Given the description of an element on the screen output the (x, y) to click on. 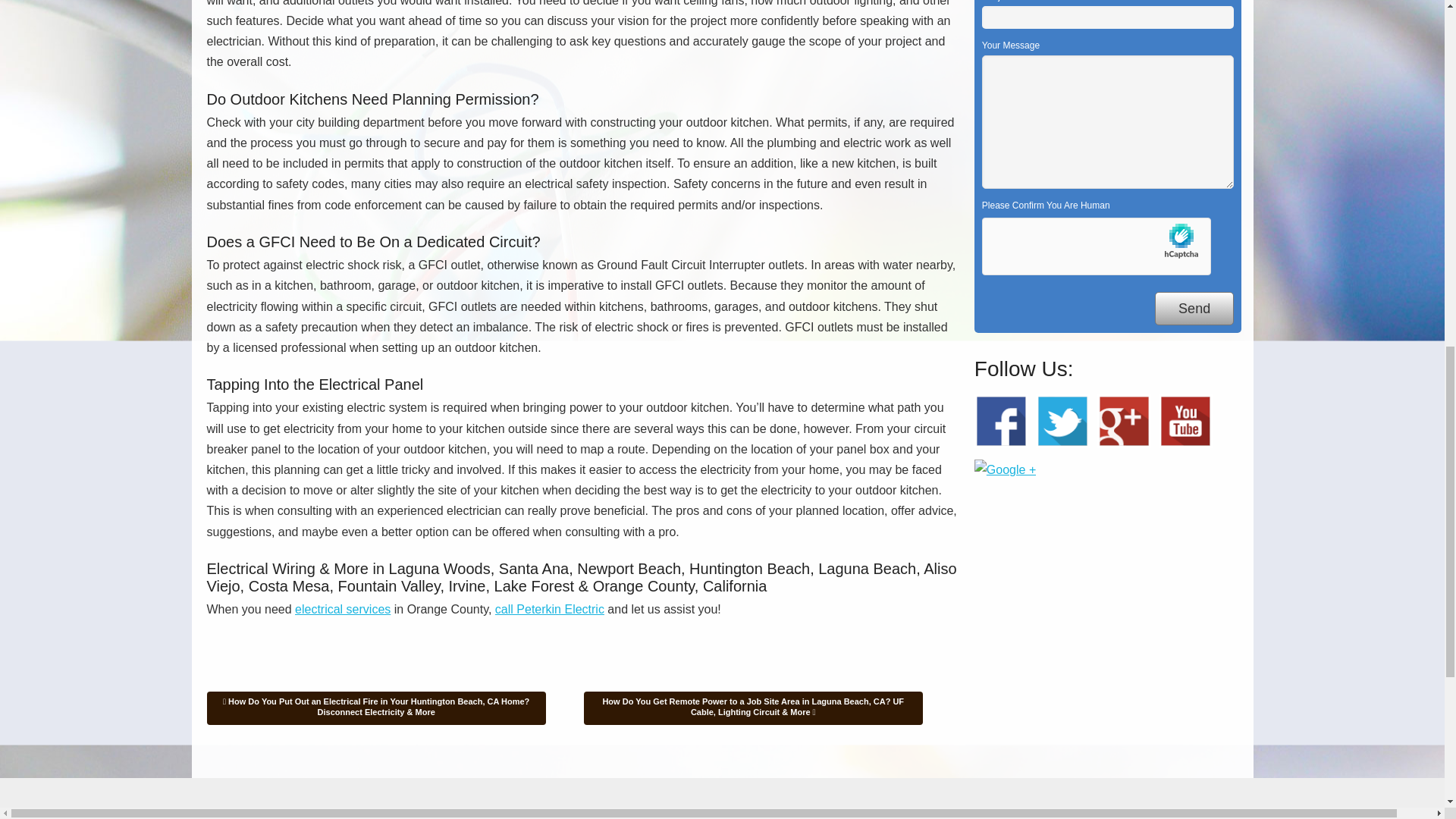
Send (1193, 308)
Send (1193, 308)
call Peterkin Electric (549, 608)
electrical services (342, 608)
